Given the description of an element on the screen output the (x, y) to click on. 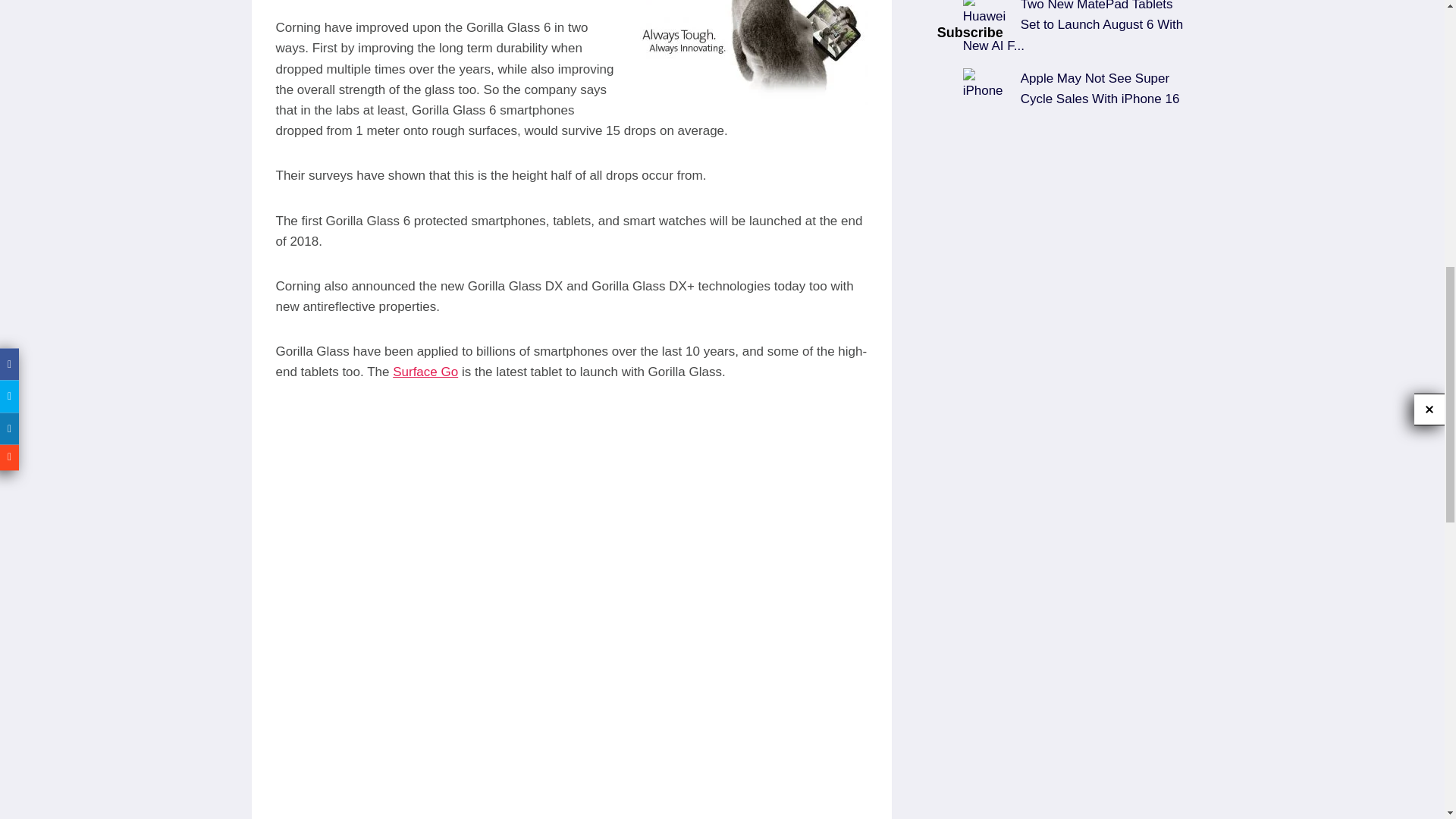
Surface Go (425, 371)
